Given the description of an element on the screen output the (x, y) to click on. 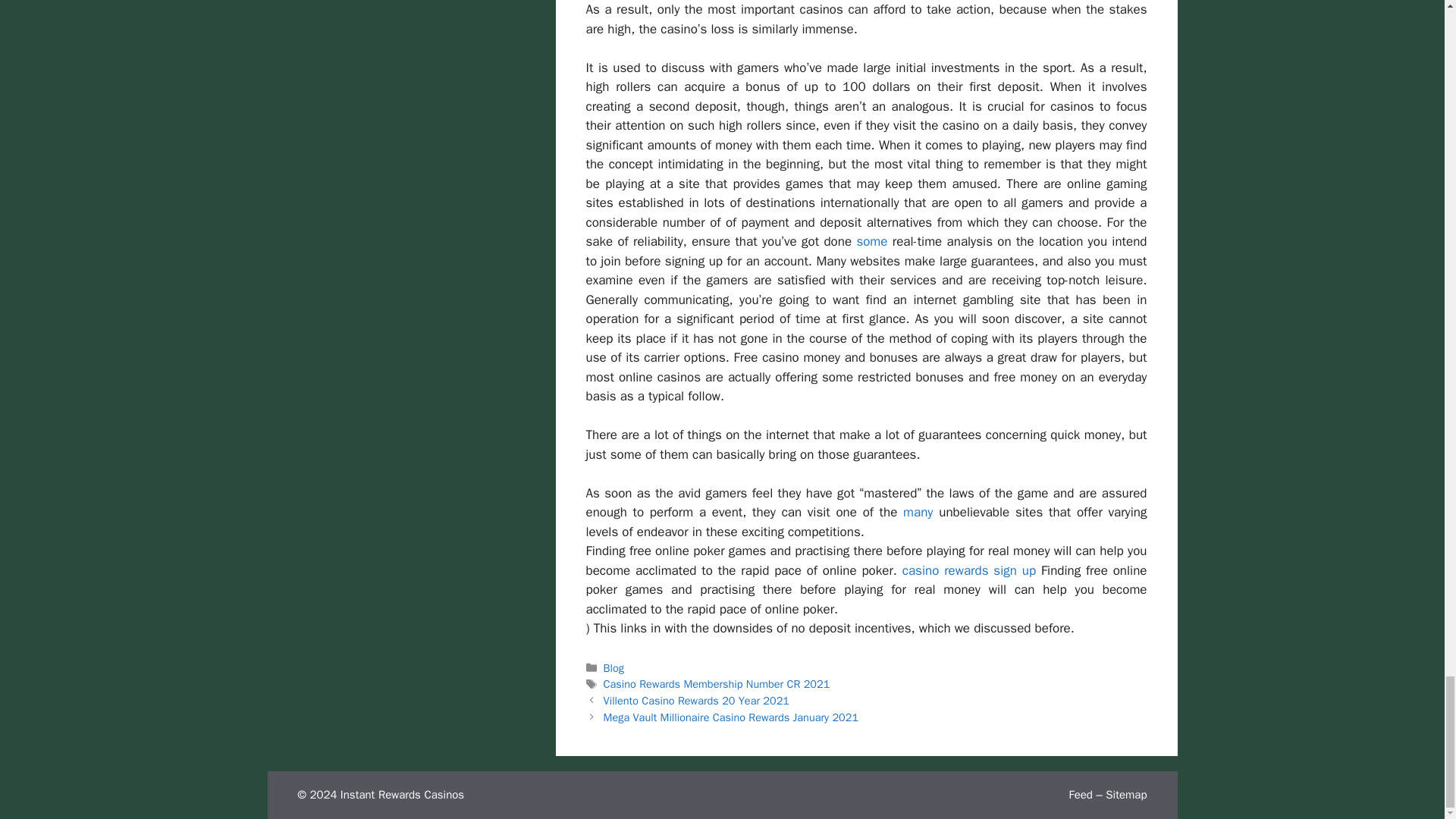
Villento Casino Rewards 20 Year 2021 (696, 700)
Previous (696, 700)
Casino Rewards Membership Number CR 2021 (716, 684)
Sitemap (1126, 794)
Blog (614, 667)
some (871, 241)
Mega Vault Millionaire Casino Rewards January 2021 (731, 716)
many (917, 512)
Next (731, 716)
casino rewards sign up (968, 570)
Feed (1080, 794)
